Given the description of an element on the screen output the (x, y) to click on. 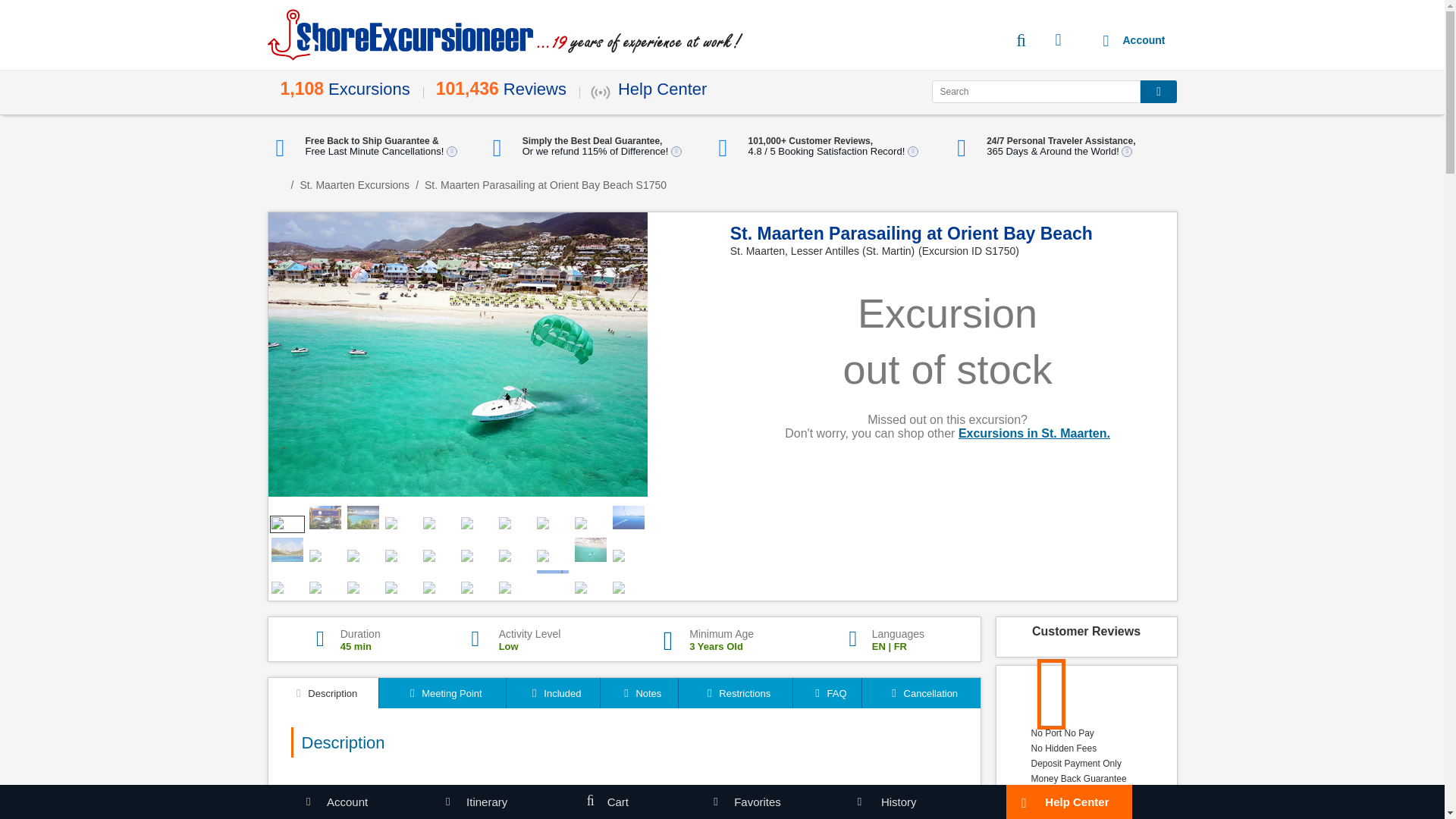
You have 0 excursions in your shopping cart (1029, 39)
You have 0 excursions in your favorite list (1069, 39)
French (900, 645)
Excursions in St. Maarten. (1033, 432)
English (878, 645)
St. Maarten Excursions (354, 184)
